Given the description of an element on the screen output the (x, y) to click on. 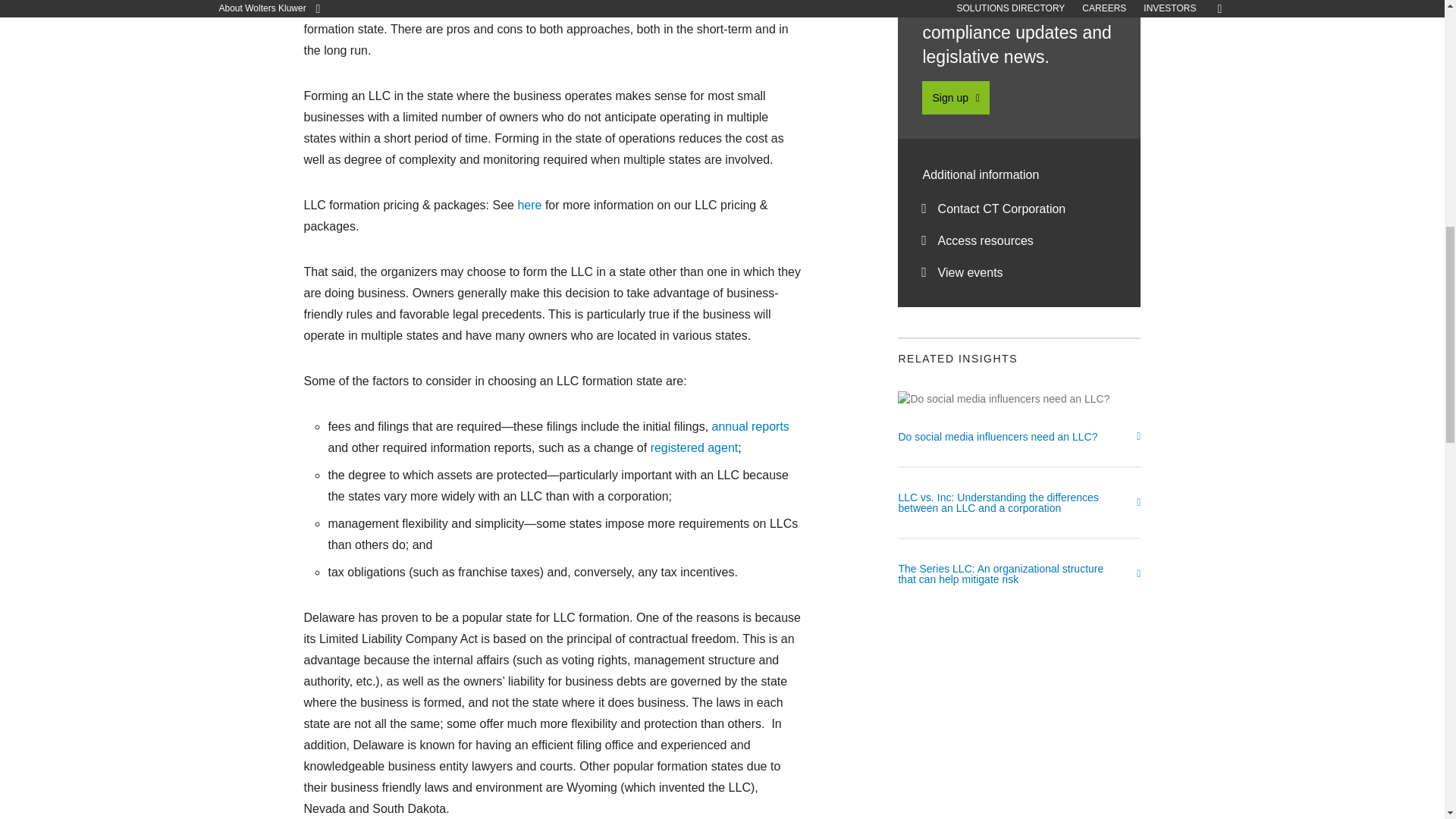
Do social media influencers need an LLC? (1019, 449)
